Given the description of an element on the screen output the (x, y) to click on. 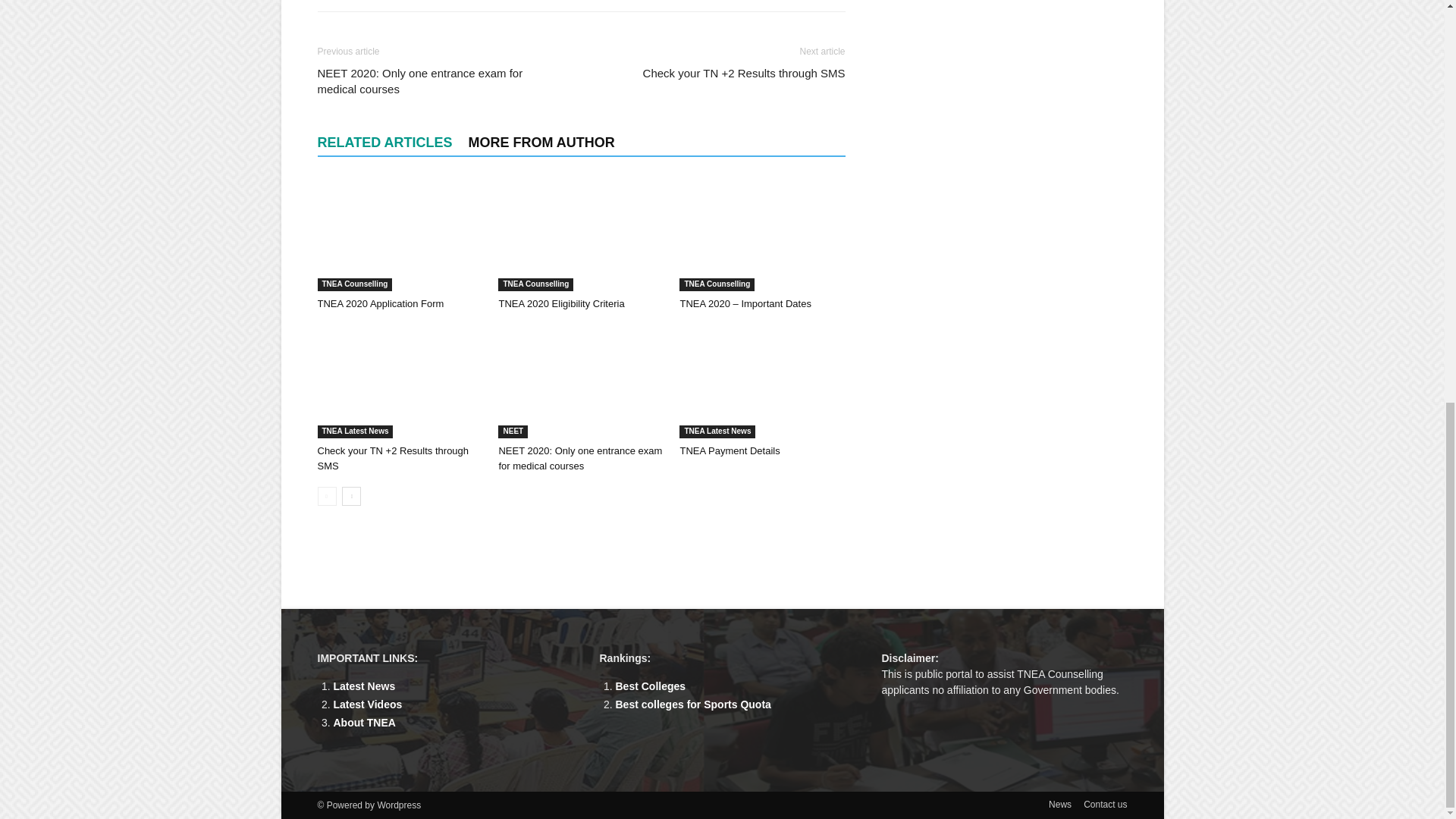
TNEA 2020 Application Form (380, 303)
NEET 2020: Only one entrance exam for medical courses (580, 381)
TNEA 2020 Eligibility Criteria (560, 303)
TNEA 2020 Application Form (399, 234)
NEET 2020: Only one entrance exam for medical courses (579, 458)
TNEA 2020 Eligibility Criteria (580, 234)
